Given the description of an element on the screen output the (x, y) to click on. 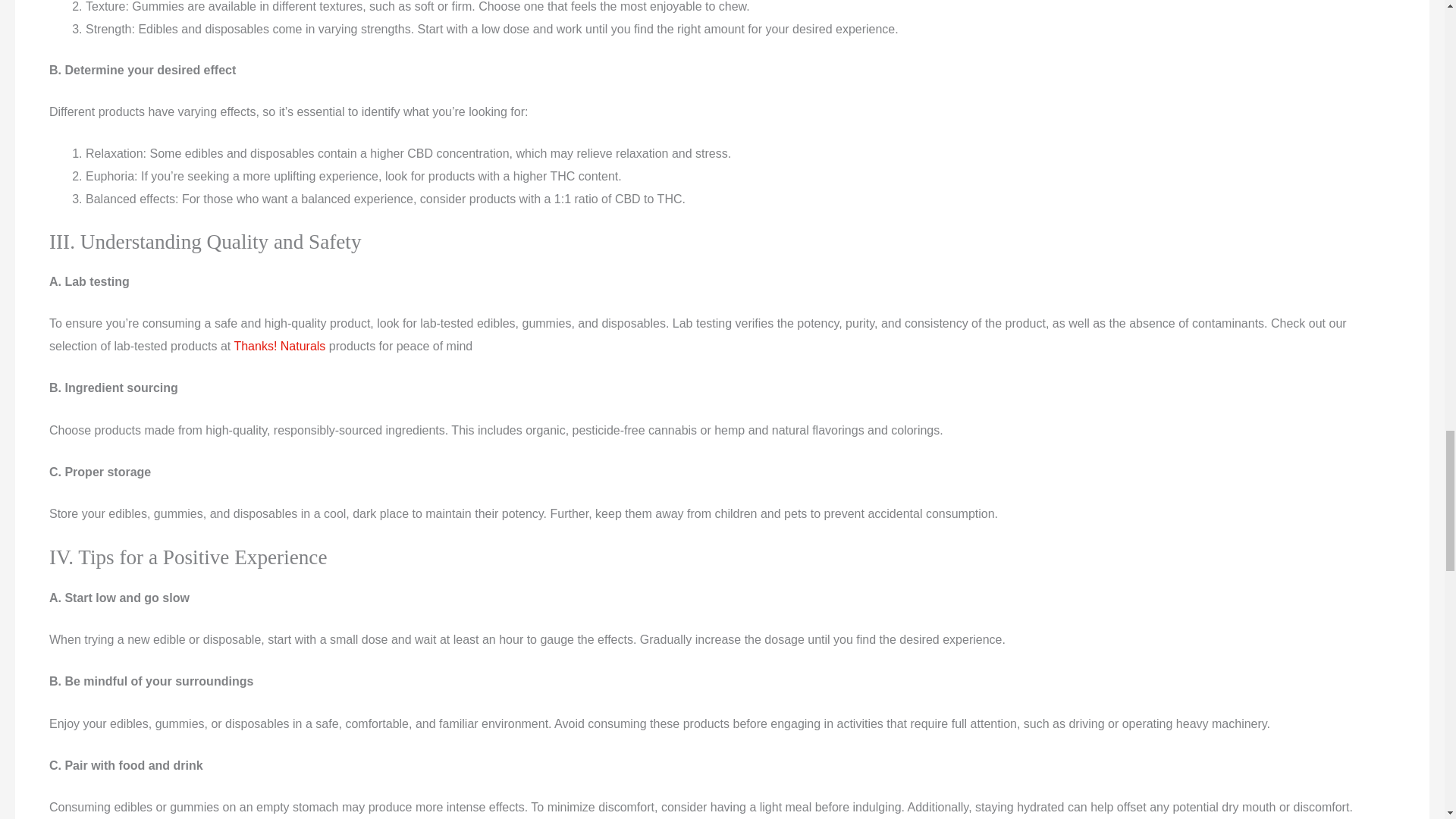
Thanks! Naturals (278, 345)
